Given the description of an element on the screen output the (x, y) to click on. 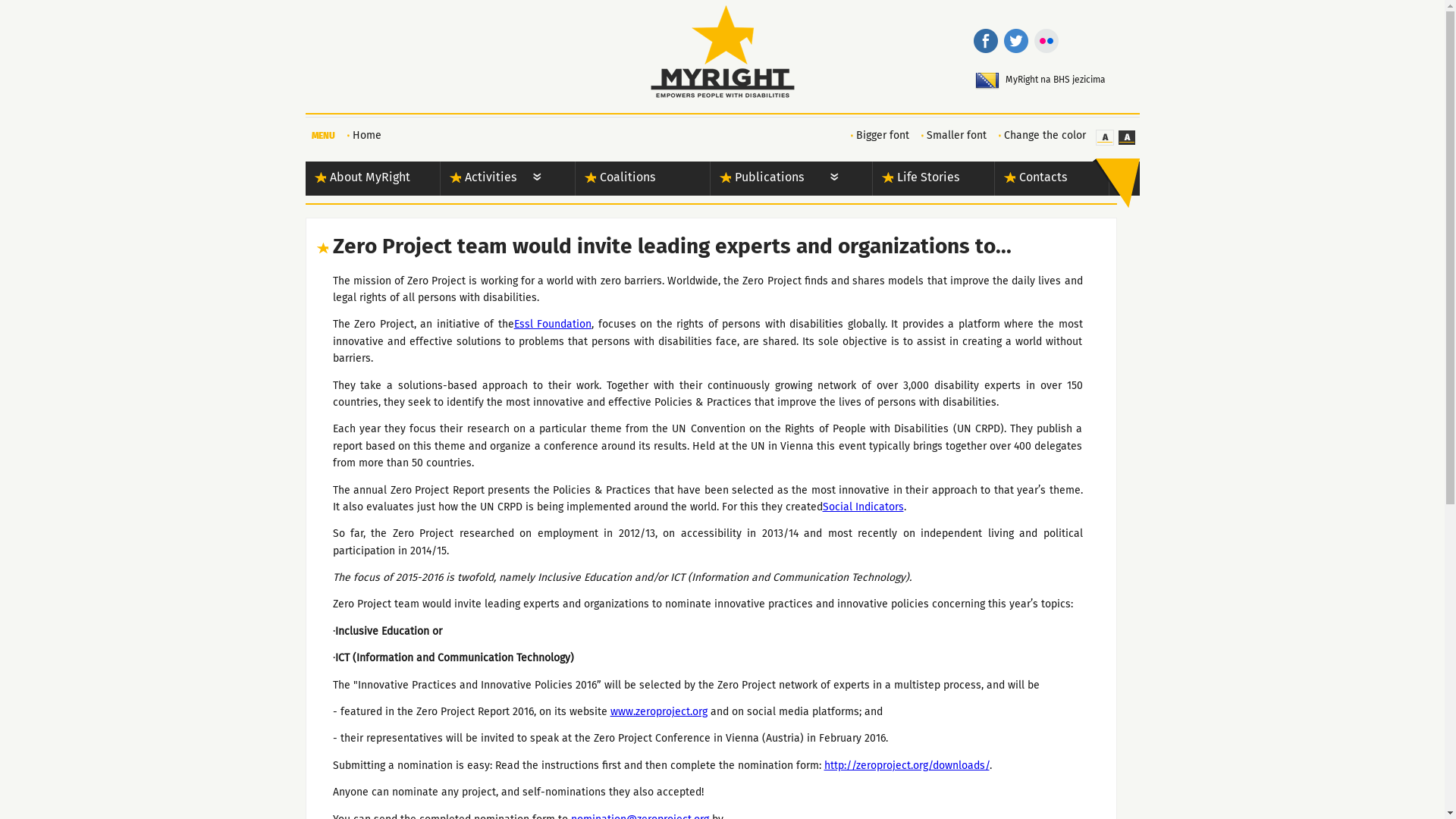
About MyRight Element type: text (364, 178)
Home Element type: text (361, 135)
Bigger font Element type: text (877, 135)
www.zeroproject.org Element type: text (657, 711)
MENU Element type: text (322, 136)
Menu end Element type: hover (1115, 182)
MyRight na BHS jezicima Element type: text (1072, 80)
http://zeroproject.org/downloads/ Element type: text (905, 765)
Publications Element type: text (769, 178)
Life Stories Element type: text (923, 178)
Coalitions Element type: text (634, 178)
Social Indicators Element type: text (862, 507)
Open the submenu link Activities Element type: hover (536, 178)
Essl Foundation Element type: text (553, 324)
Smaller font Element type: text (950, 135)
Contacts Element type: text (1040, 178)
Change the color Element type: text (1039, 135)
Activities Element type: text (499, 178)
Open the submenu link Publications Element type: hover (834, 178)
